Given the description of an element on the screen output the (x, y) to click on. 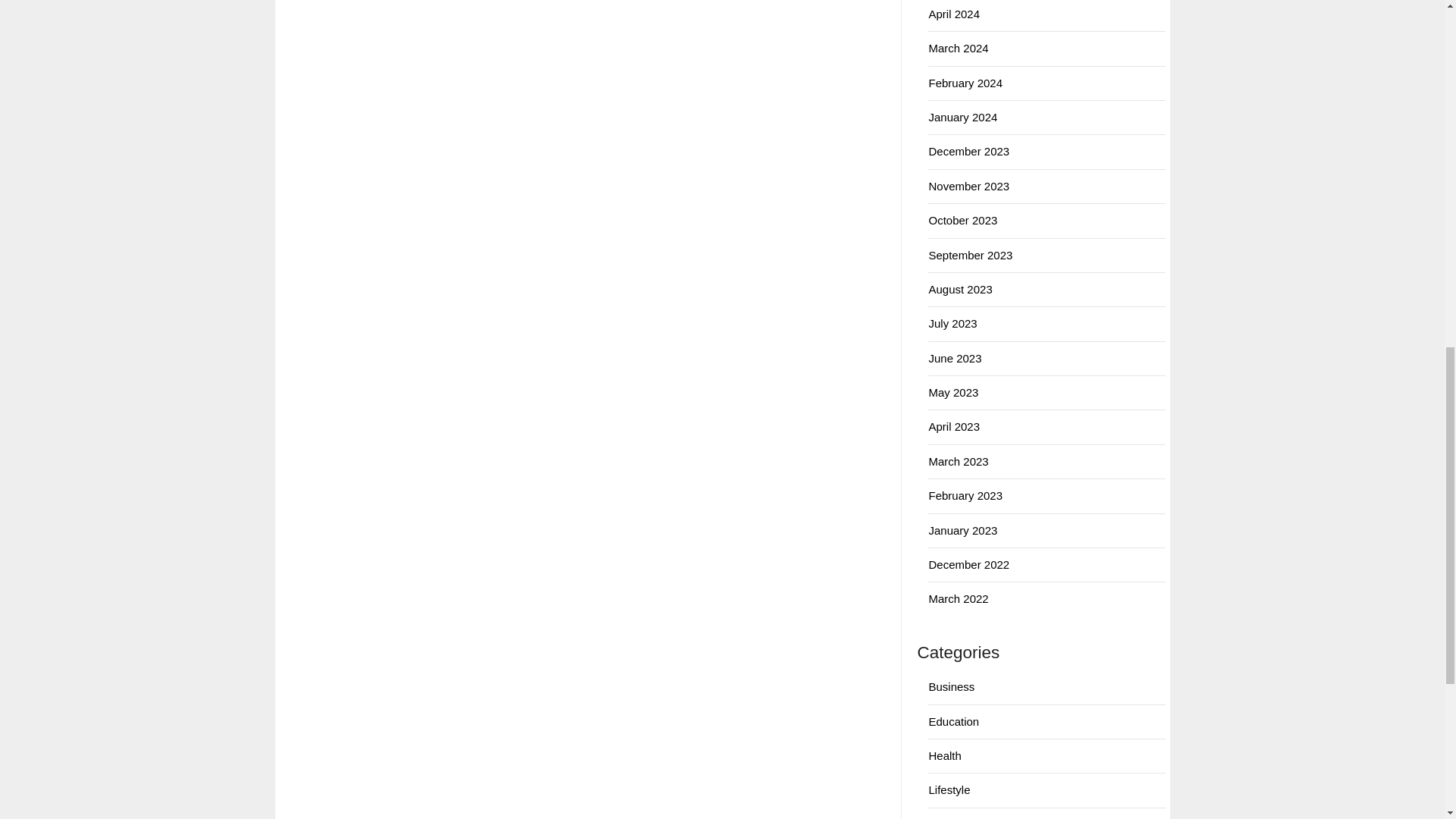
October 2023 (962, 219)
December 2023 (968, 151)
March 2024 (958, 47)
January 2024 (962, 116)
July 2023 (952, 323)
February 2024 (965, 82)
Health (944, 755)
April 2024 (953, 13)
December 2022 (968, 563)
April 2023 (953, 426)
May 2023 (953, 391)
November 2023 (968, 185)
February 2023 (965, 495)
Education (953, 721)
March 2023 (958, 461)
